Given the description of an element on the screen output the (x, y) to click on. 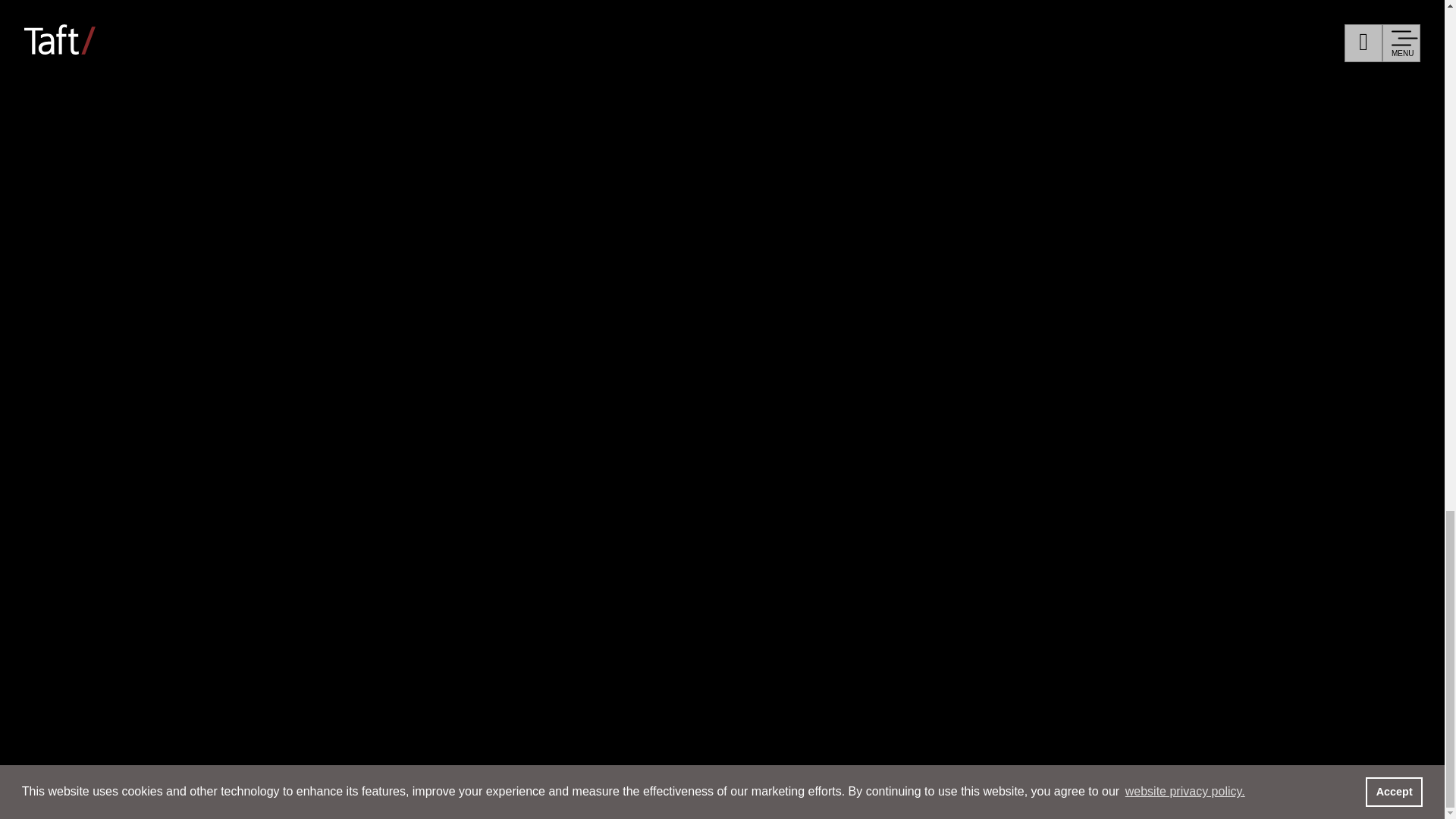
Terms and Conditions (1114, 49)
Accessibility (1242, 49)
Subscribe (925, 49)
Contact Us (836, 49)
Affiliates (753, 49)
Payments (861, 76)
Privacy (1002, 49)
About (124, 64)
